Given the description of an element on the screen output the (x, y) to click on. 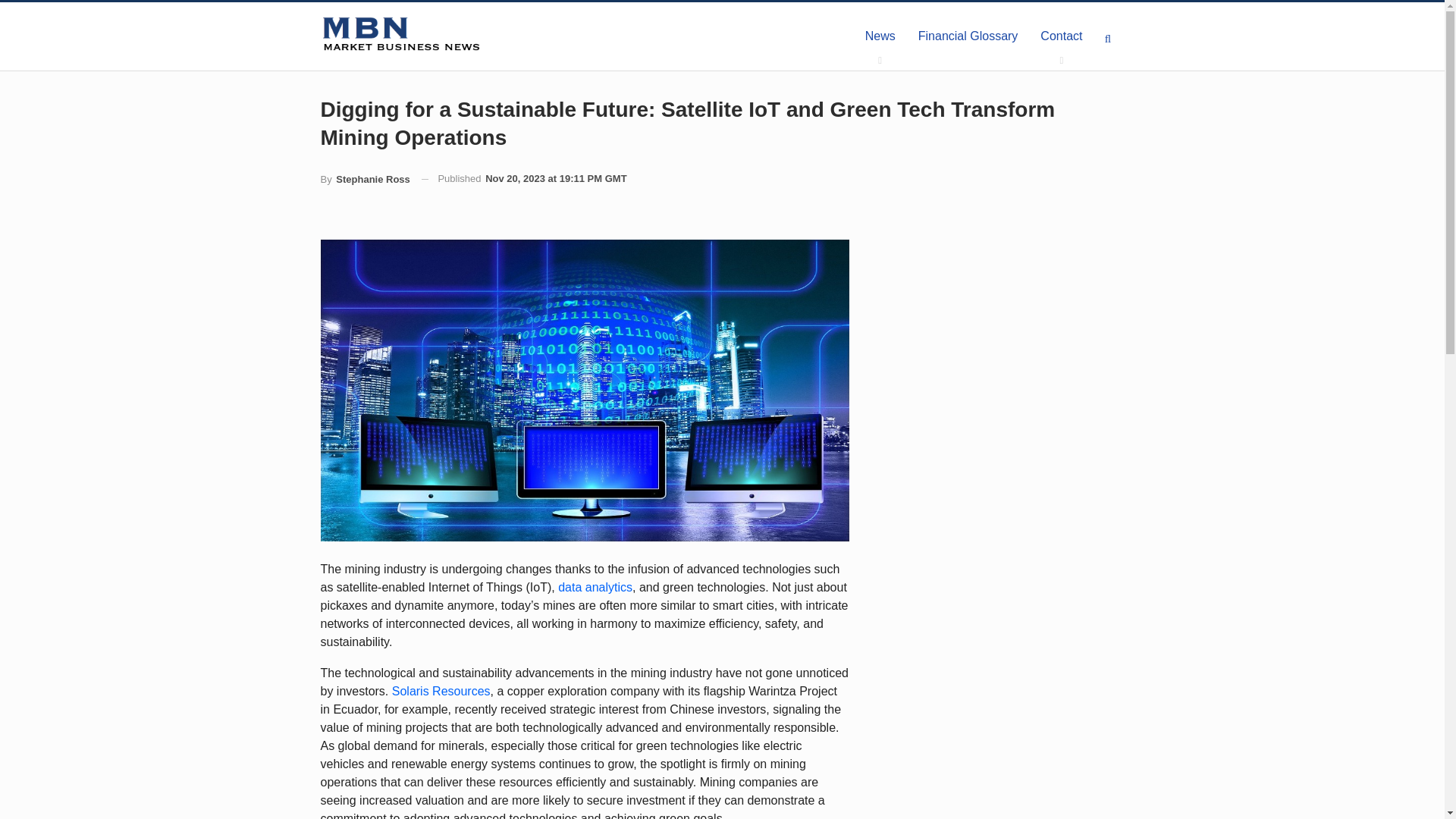
Browse Author Articles (364, 179)
By Stephanie Ross (364, 179)
Financial Glossary (968, 36)
data analytics (594, 586)
Contact (1061, 36)
Solaris Resources (440, 690)
